Given the description of an element on the screen output the (x, y) to click on. 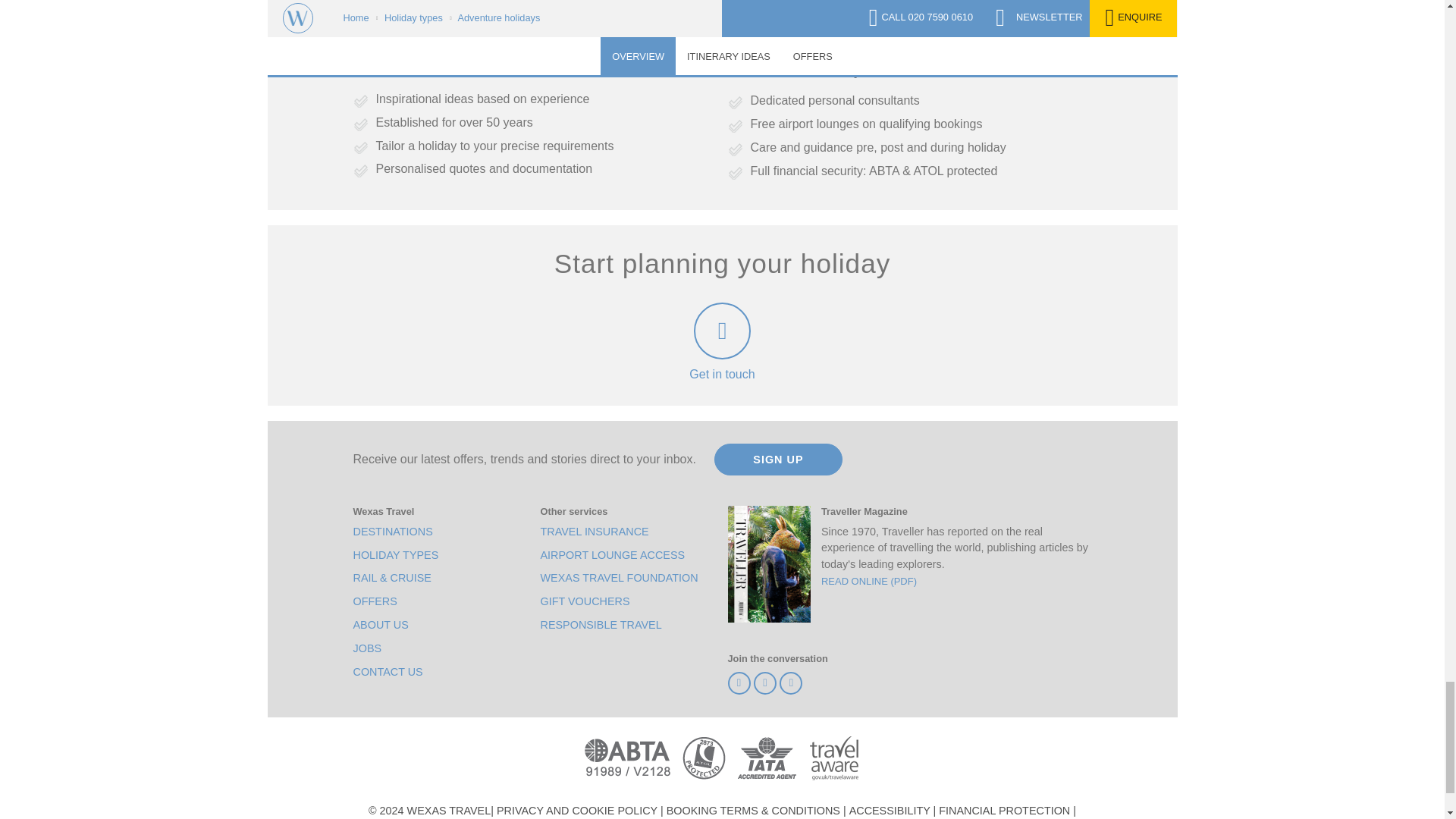
Responsible Travel (600, 625)
Wexas Travel Foundation (618, 578)
Holiday Types (396, 555)
Travel Insurance (593, 531)
Gift Vouchers (584, 601)
Contact us (388, 672)
Offers (375, 601)
Destinations (392, 531)
Airport Lounge Access (612, 555)
Jobs (367, 648)
